Given the description of an element on the screen output the (x, y) to click on. 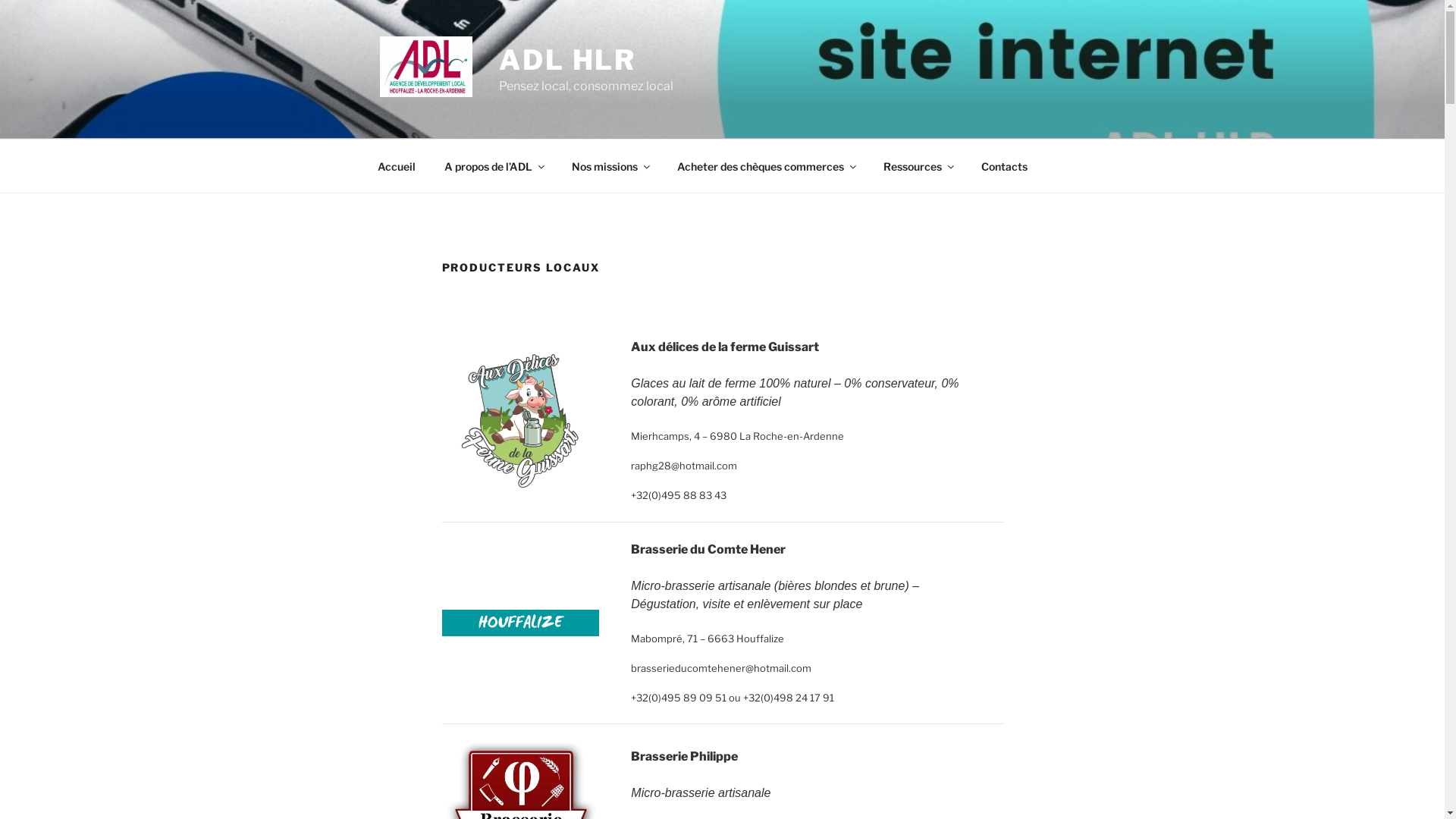
Nos missions Element type: text (609, 165)
ADL HLR Element type: text (567, 59)
Contacts Element type: text (1003, 165)
Accueil Element type: text (396, 165)
Ressources Element type: text (918, 165)
